Given the description of an element on the screen output the (x, y) to click on. 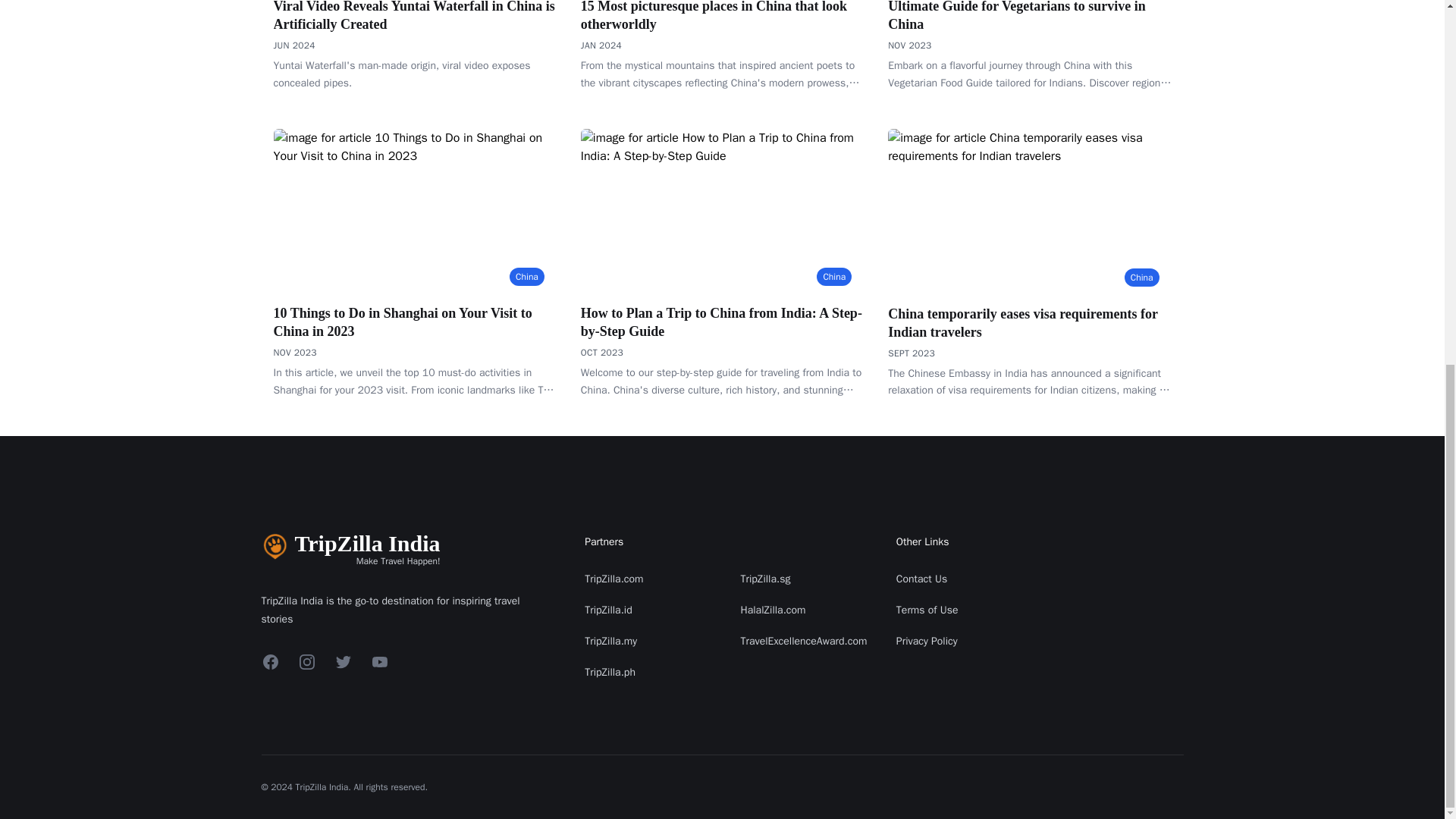
China (833, 276)
Ultimate Guide for Vegetarians to survive in China (1029, 16)
15 Most picturesque places in China that look otherworldly (721, 16)
China (526, 276)
10 Things to Do in Shanghai on Your Visit to China in 2023 (414, 321)
How to Plan a Trip to China from India: A Step-by-Step Guide (721, 321)
China (1141, 276)
